Given the description of an element on the screen output the (x, y) to click on. 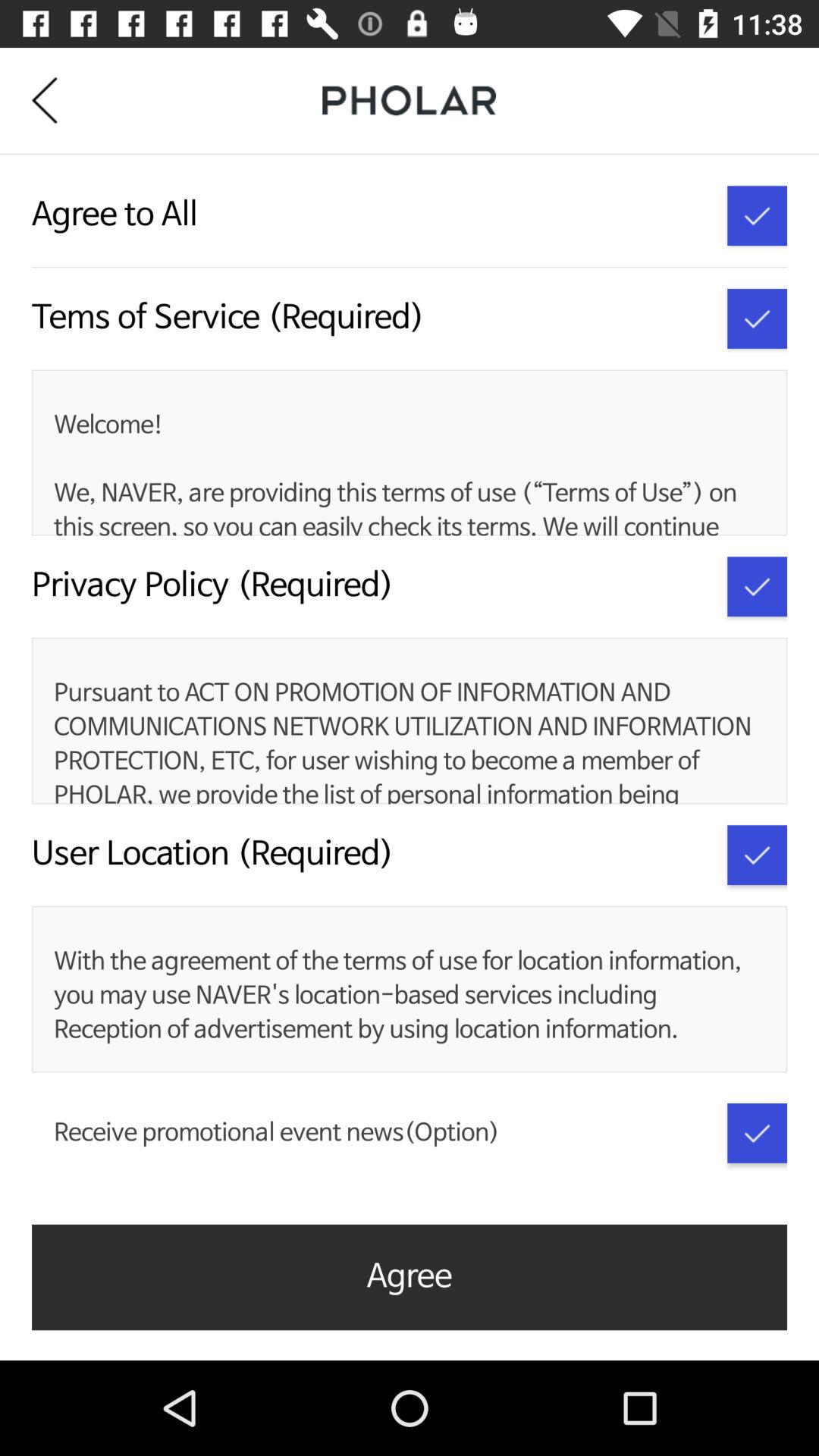
agree to all (757, 215)
